Given the description of an element on the screen output the (x, y) to click on. 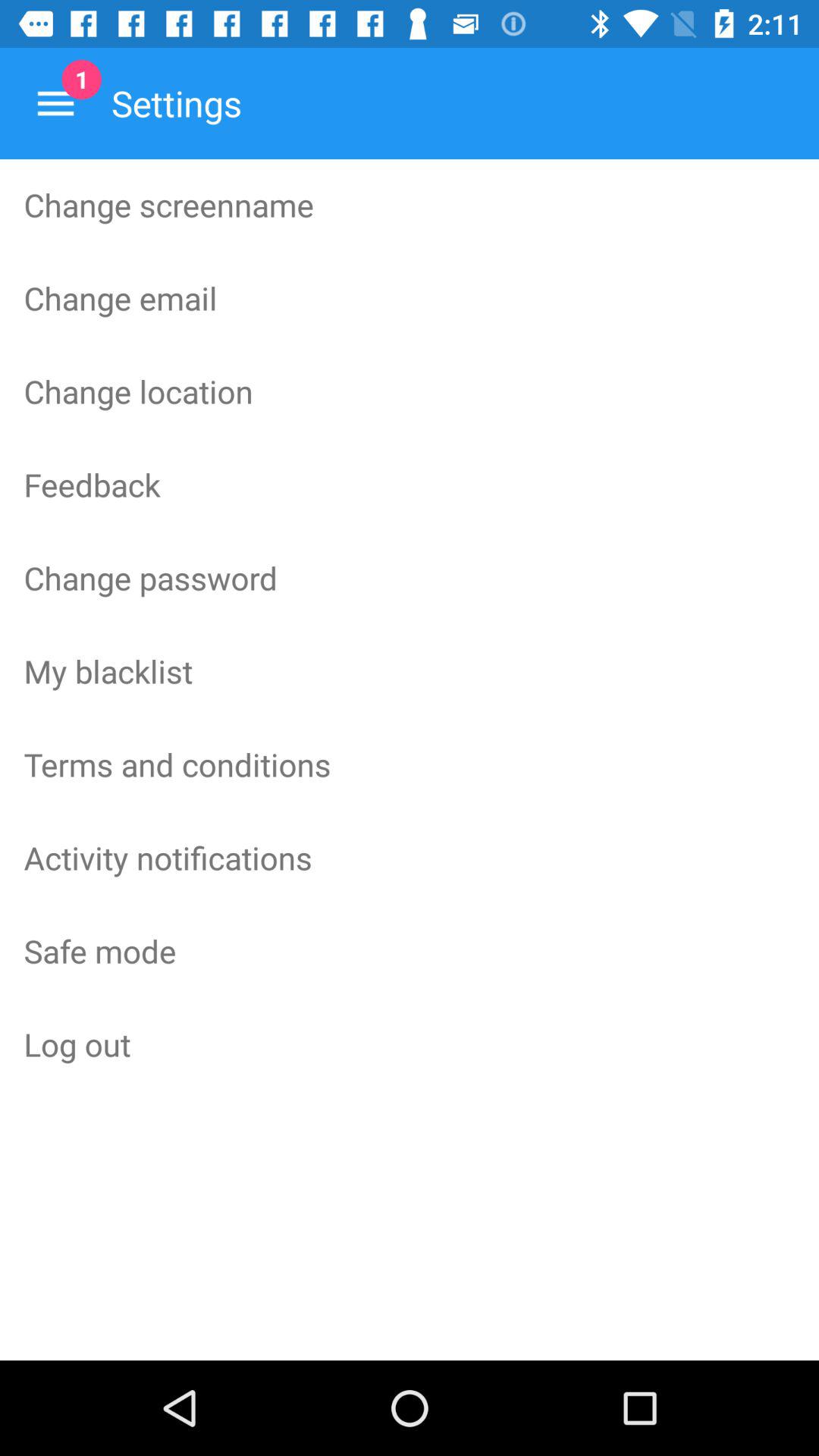
turn off feedback item (409, 484)
